Given the description of an element on the screen output the (x, y) to click on. 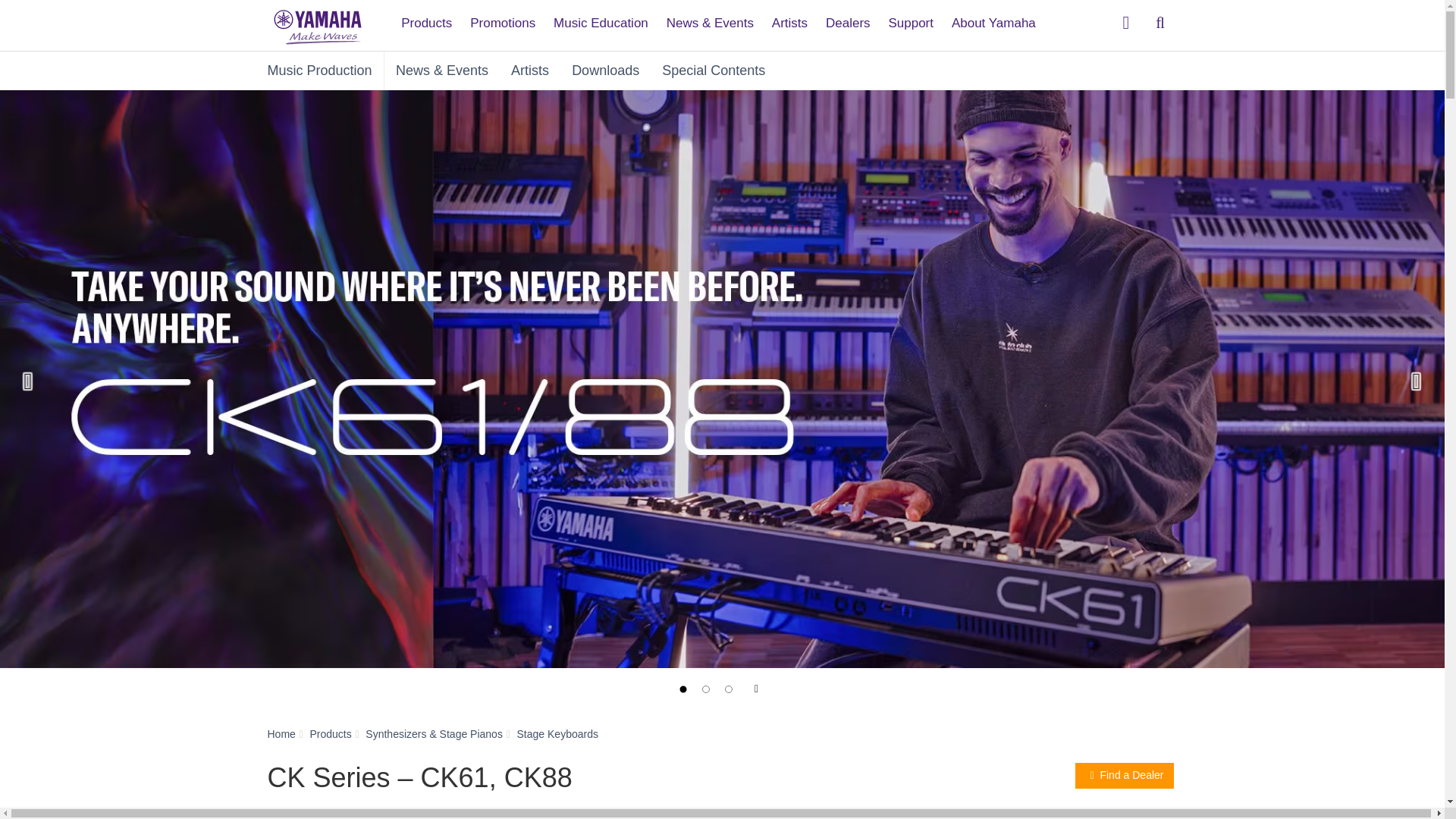
Products (426, 17)
search (1160, 23)
Artists (789, 17)
Music Education (601, 17)
Support (910, 17)
Promotions (503, 17)
About Yamaha (993, 17)
Dealers (847, 17)
